Given the description of an element on the screen output the (x, y) to click on. 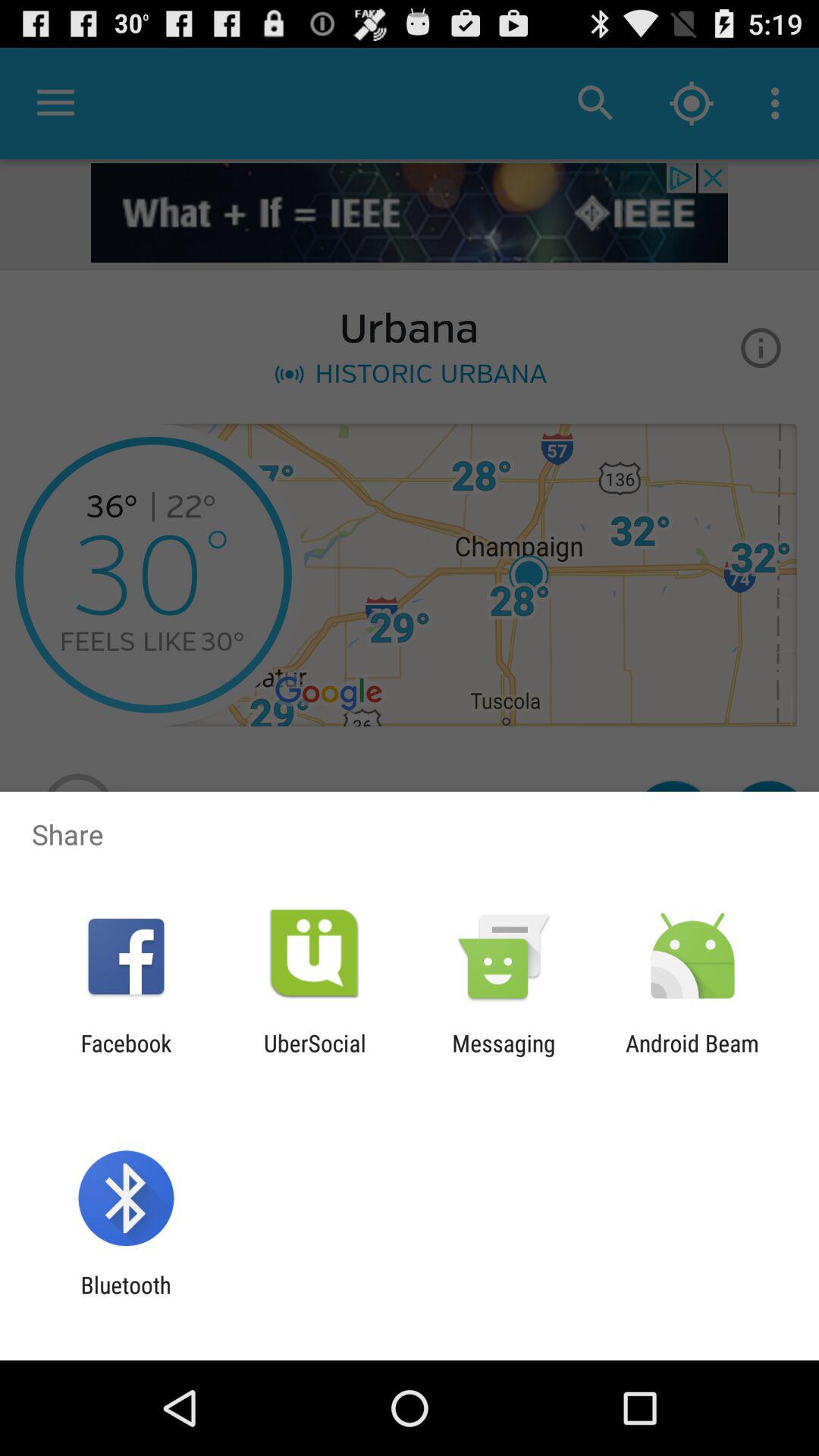
flip to messaging item (503, 1056)
